Given the description of an element on the screen output the (x, y) to click on. 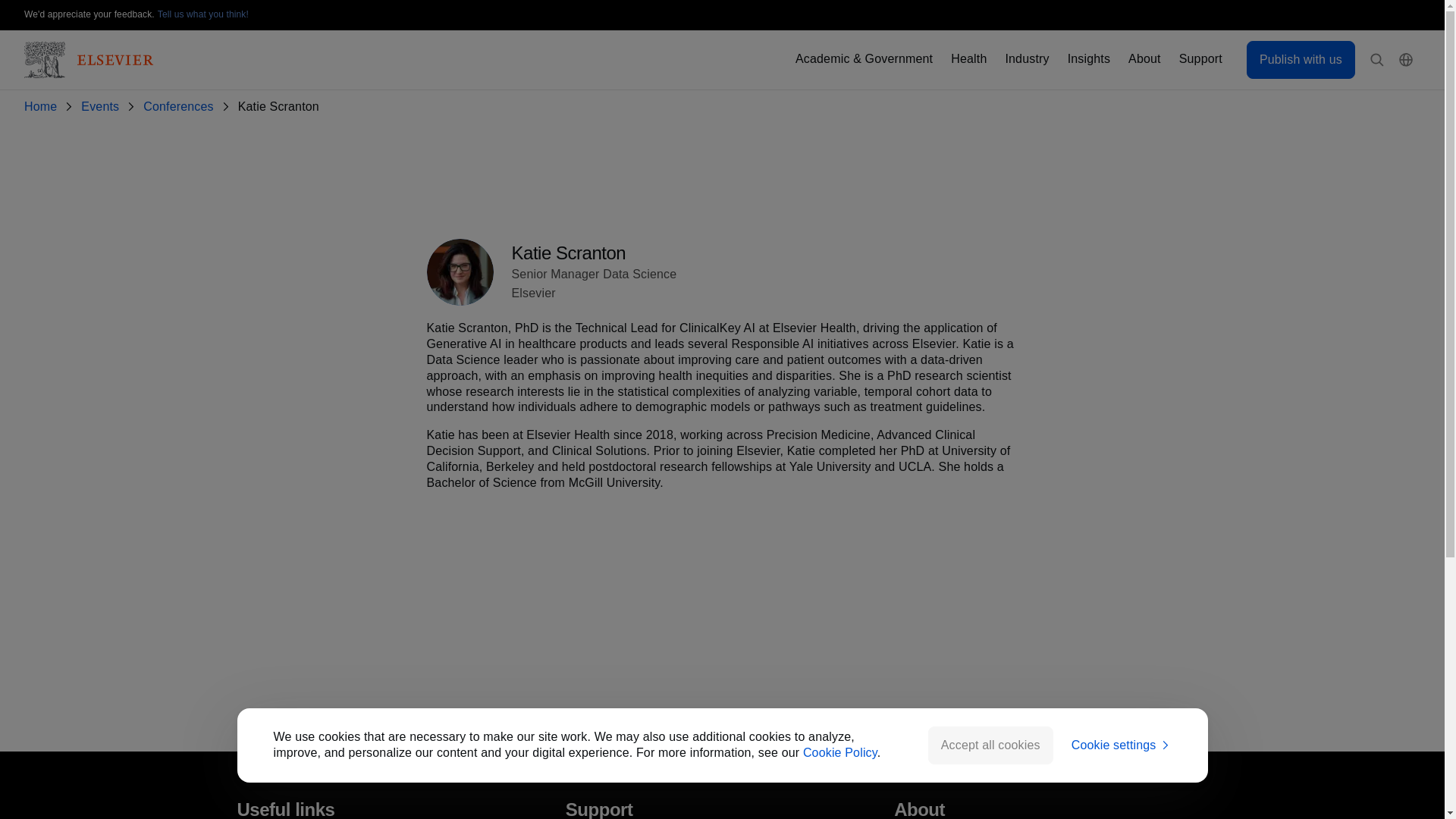
Home (43, 107)
Location Selector (1406, 59)
Events (103, 107)
Open Search (1376, 59)
Insights (1088, 59)
Conferences (180, 107)
Industry (1026, 59)
Publish with us (1300, 59)
Health (968, 59)
Support (1201, 59)
